Given the description of an element on the screen output the (x, y) to click on. 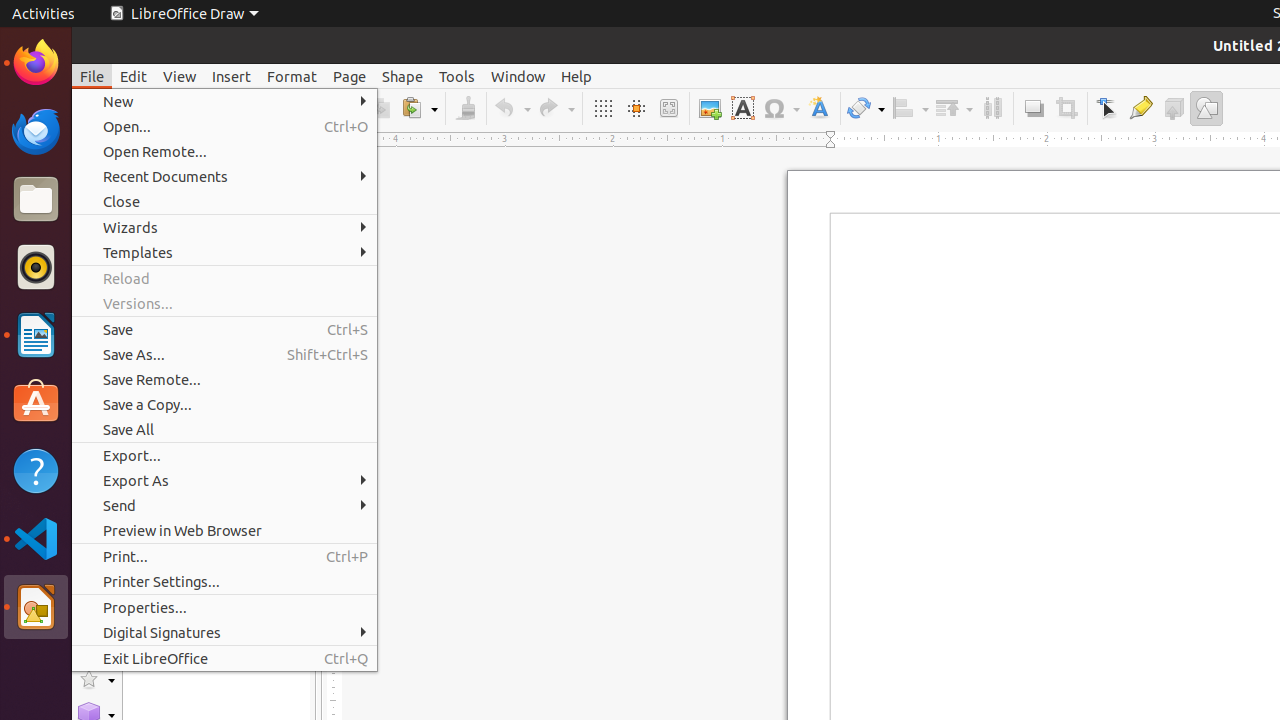
Export... Element type: menu-item (224, 455)
Digital Signatures Element type: menu (224, 632)
Redo Element type: push-button (556, 108)
Templates Element type: menu (224, 252)
Open... Element type: menu-item (224, 126)
